Given the description of an element on the screen output the (x, y) to click on. 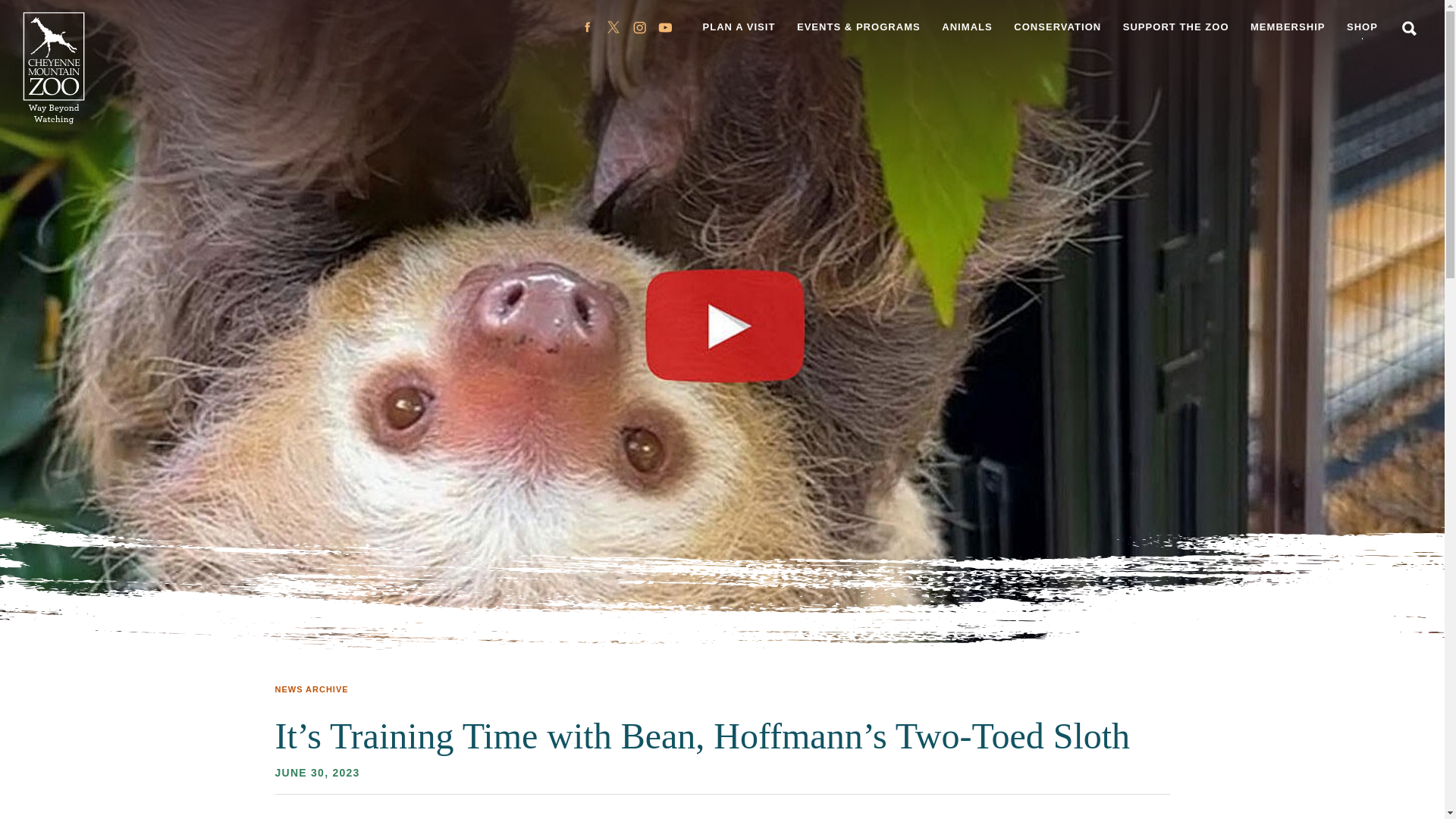
SUPPORT THE ZOO (1176, 27)
SHOP (1362, 27)
MEMBERSHIP (1288, 27)
NEWS ARCHIVE (311, 689)
PLAN A VISIT (738, 27)
CONSERVATION (1056, 27)
ANIMALS (967, 27)
